Given the description of an element on the screen output the (x, y) to click on. 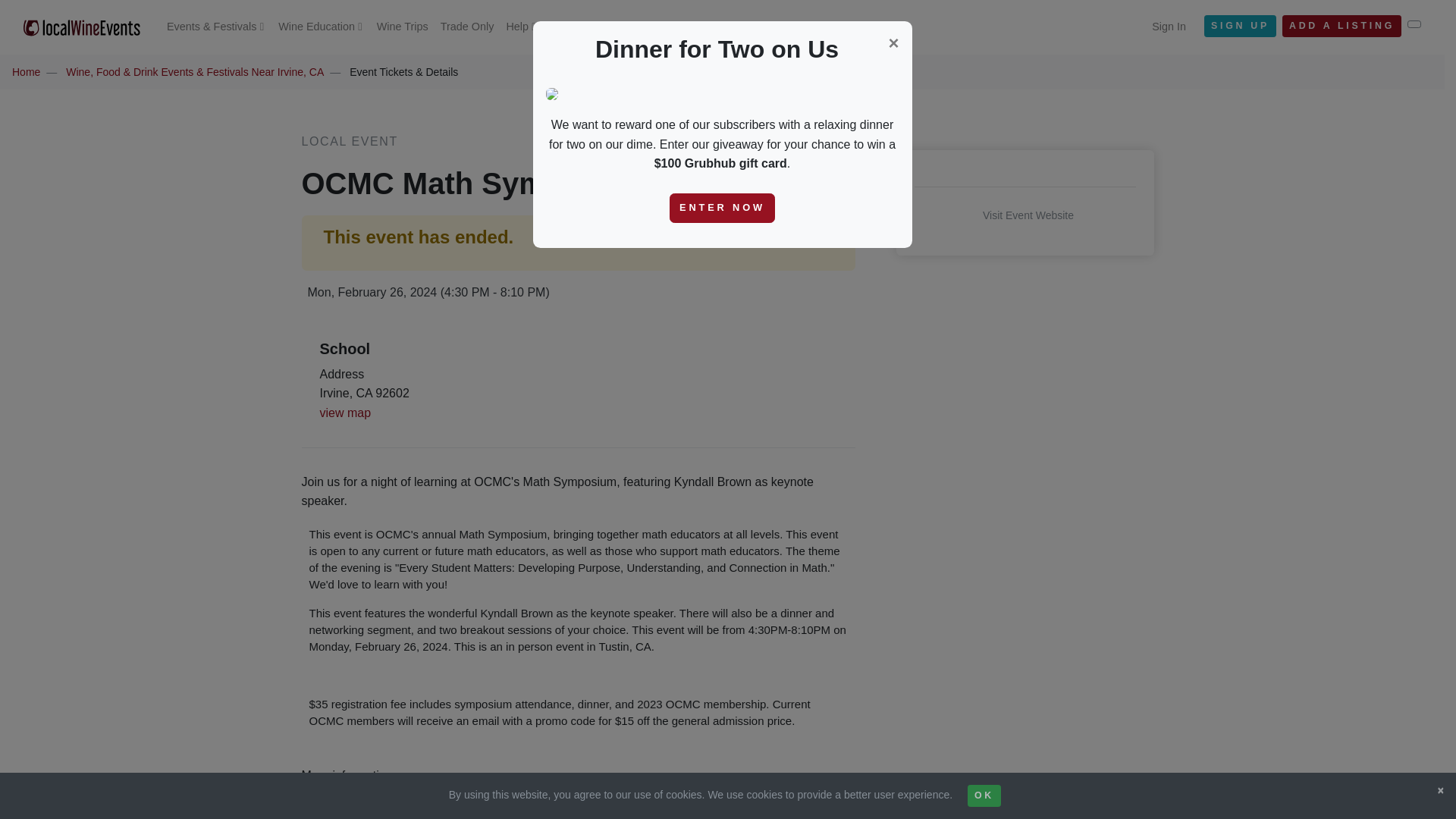
Visit Event Website (1025, 215)
Home (25, 71)
view map (345, 412)
ADD A LISTING (1341, 25)
Wine Education (321, 26)
Wine Trips (402, 26)
Sign In (1168, 26)
Find out more here (346, 794)
Trade Only (466, 26)
Help (521, 26)
SIGN UP (1240, 25)
